Given the description of an element on the screen output the (x, y) to click on. 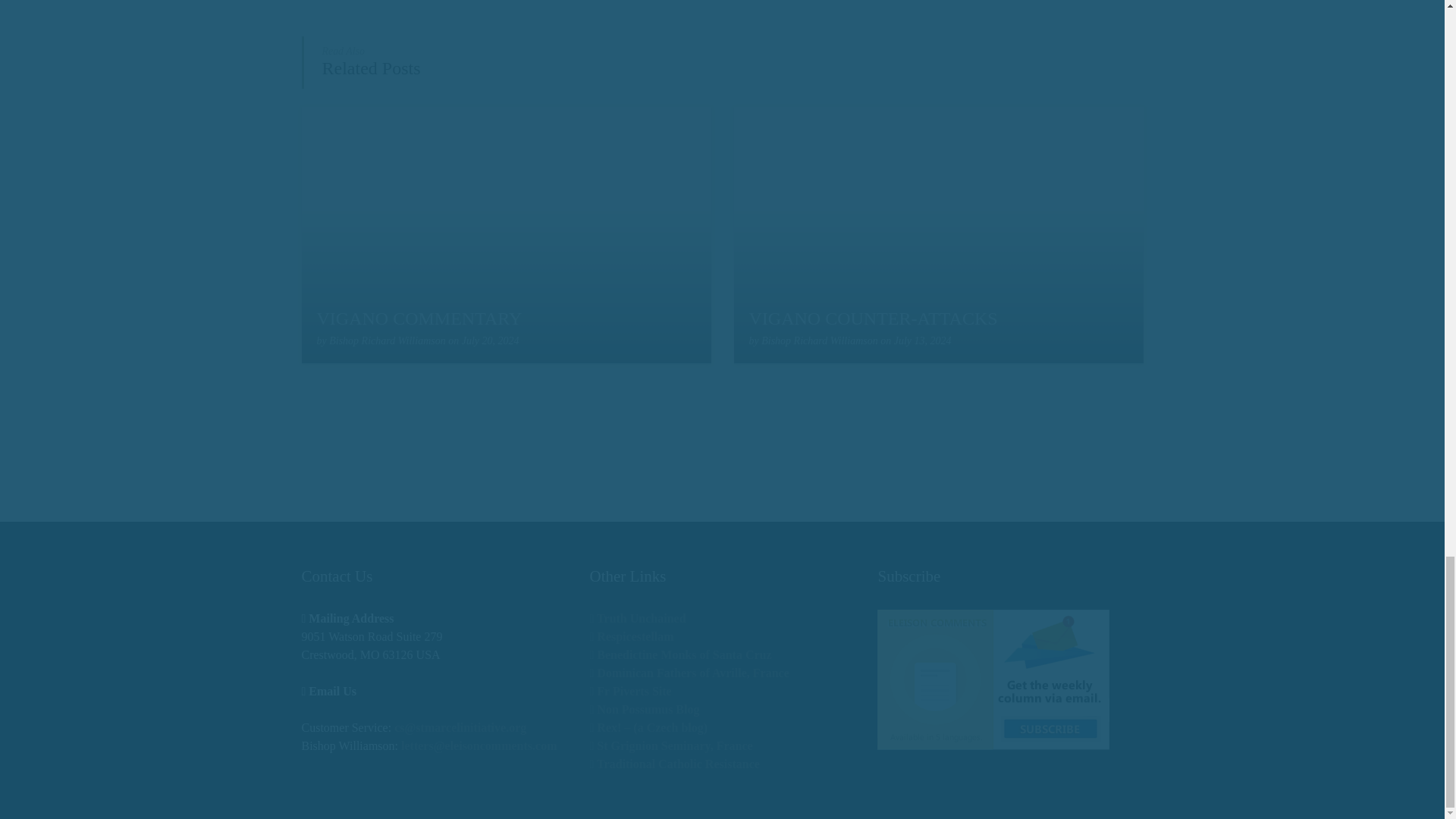
VIGANO COMMENTARY (419, 318)
Bishop Richard Williamson (387, 340)
